Given the description of an element on the screen output the (x, y) to click on. 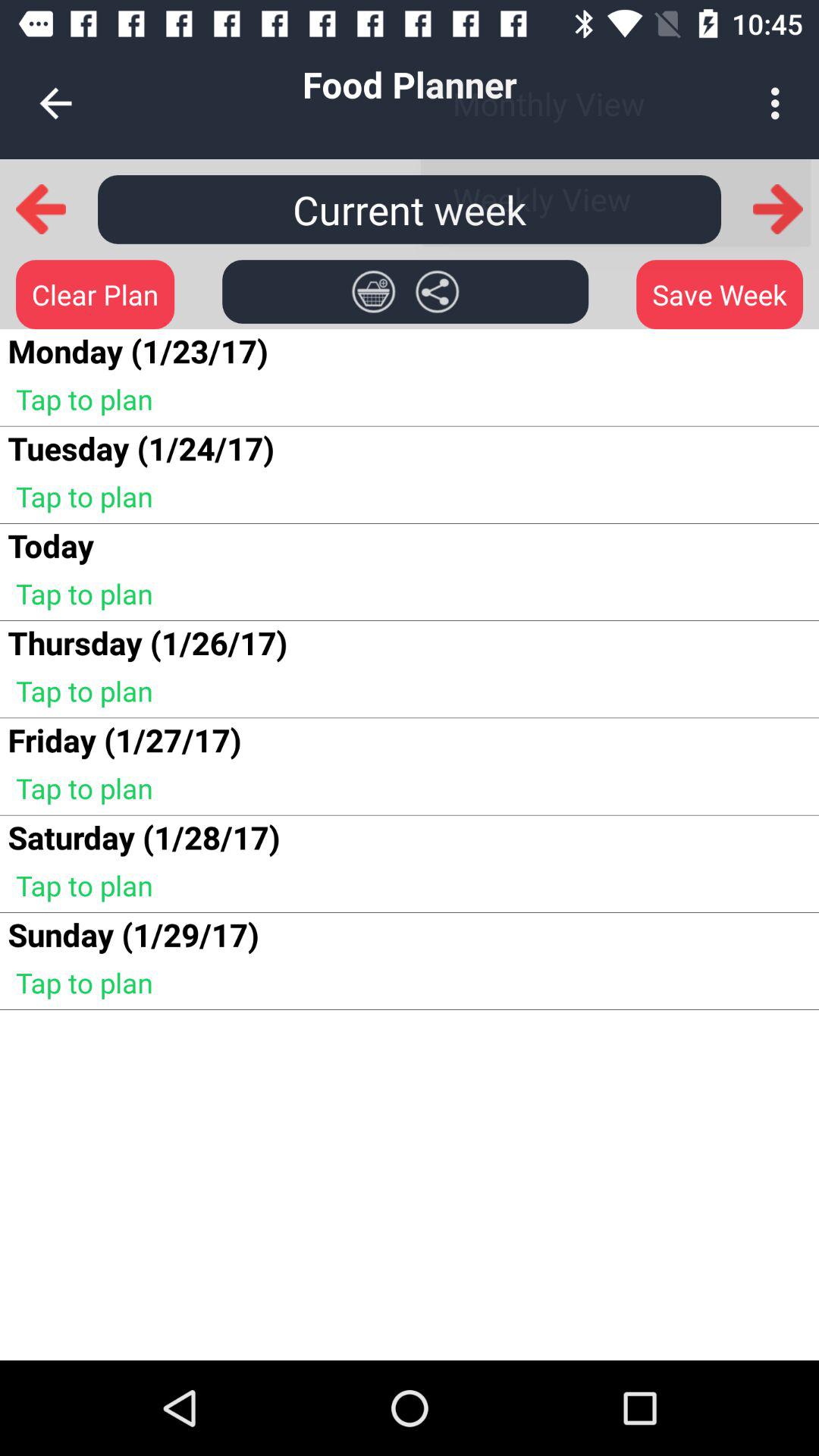
select the icon above the monday 1 23 (94, 294)
